Given the description of an element on the screen output the (x, y) to click on. 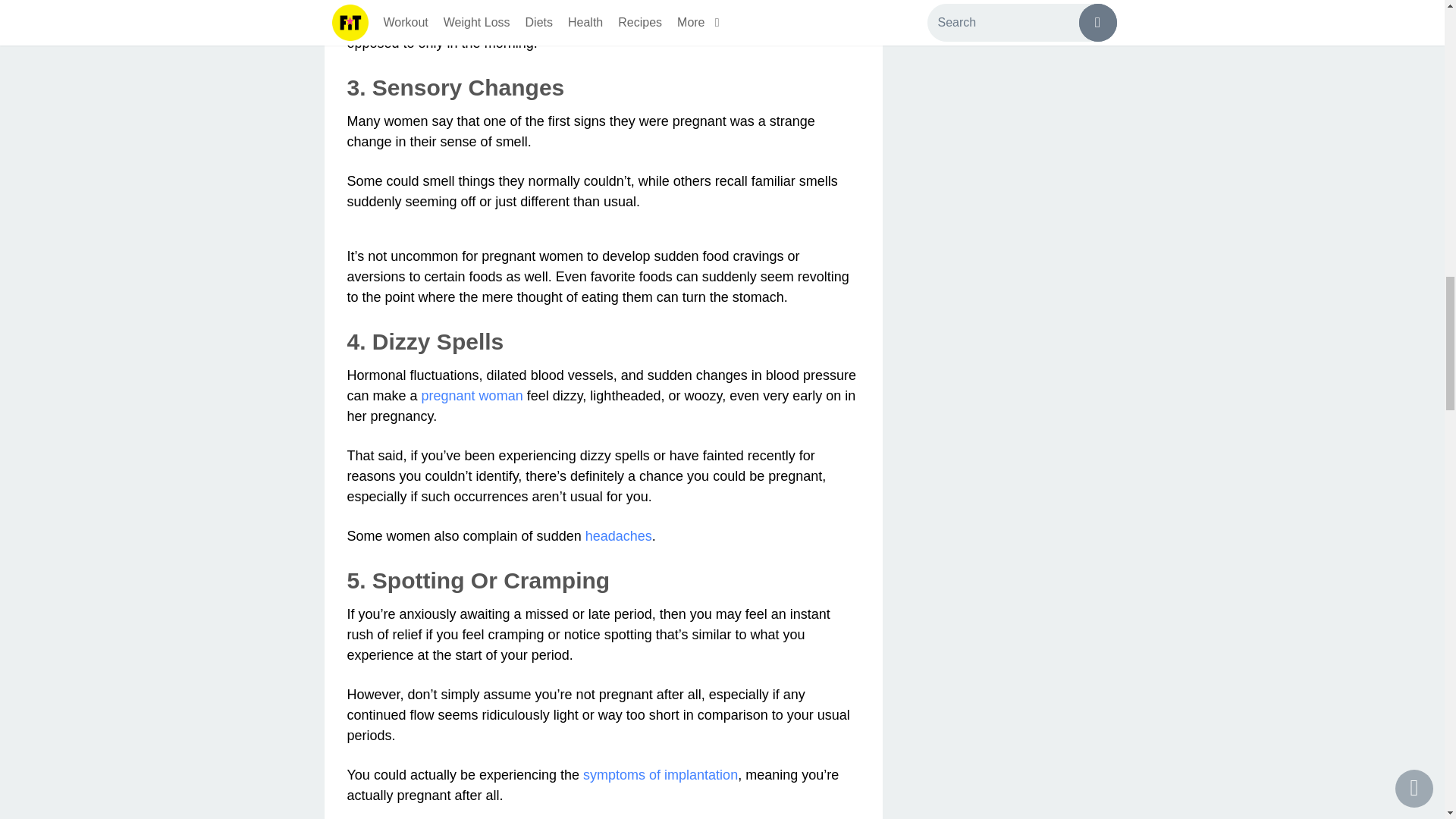
pregnant women (432, 22)
pregnant woman (472, 395)
symptoms of implantation (660, 774)
headaches (618, 535)
